Given the description of an element on the screen output the (x, y) to click on. 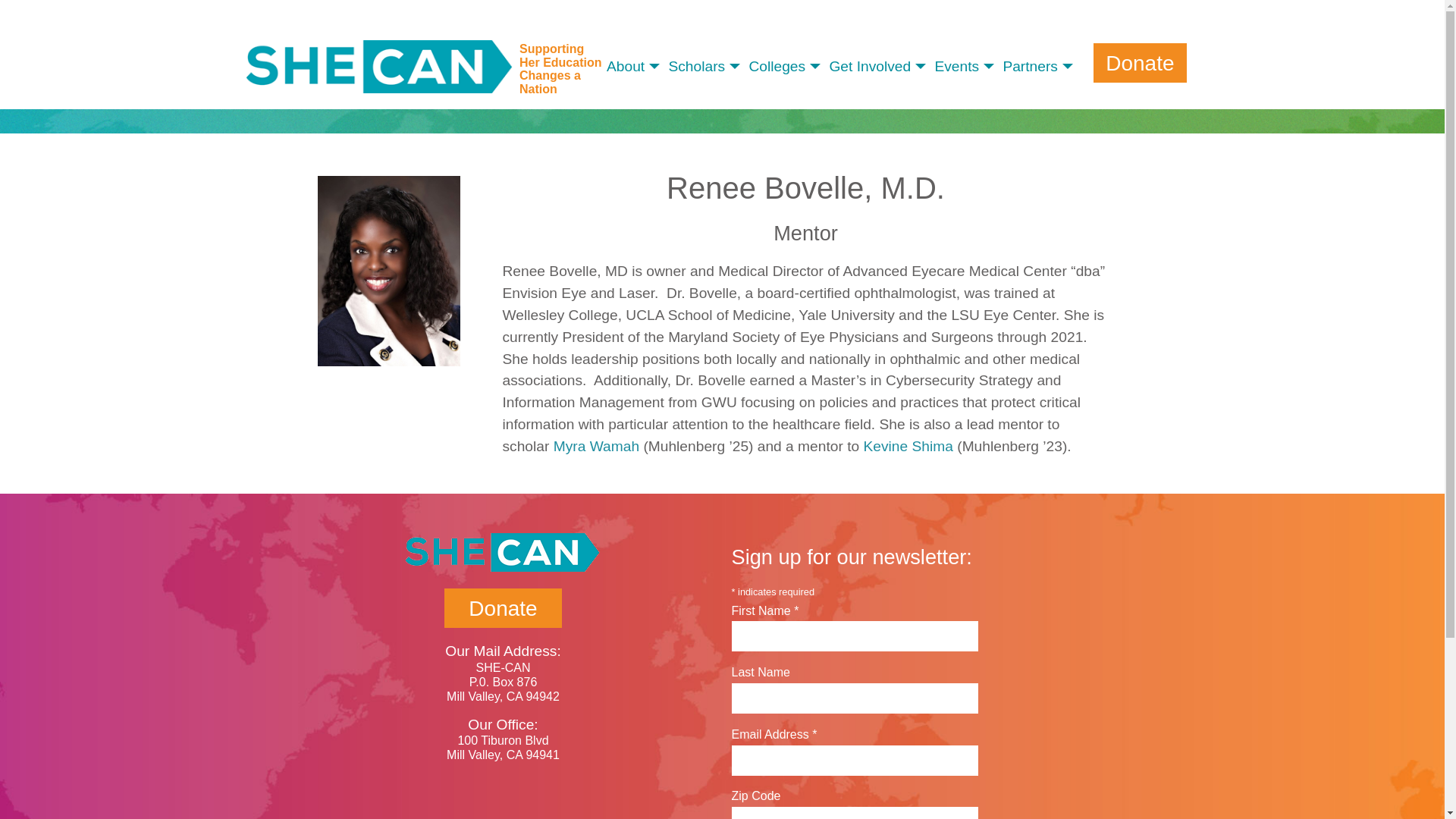
Events (968, 66)
Scholars (708, 66)
About (637, 66)
Kevine Shima (908, 446)
Colleges (788, 66)
Partners (1042, 66)
Colleges (788, 66)
Myra Wamah (596, 446)
Donate (1139, 62)
About (637, 66)
Scholars (708, 66)
Get Involved (881, 66)
Donate (502, 608)
